Given the description of an element on the screen output the (x, y) to click on. 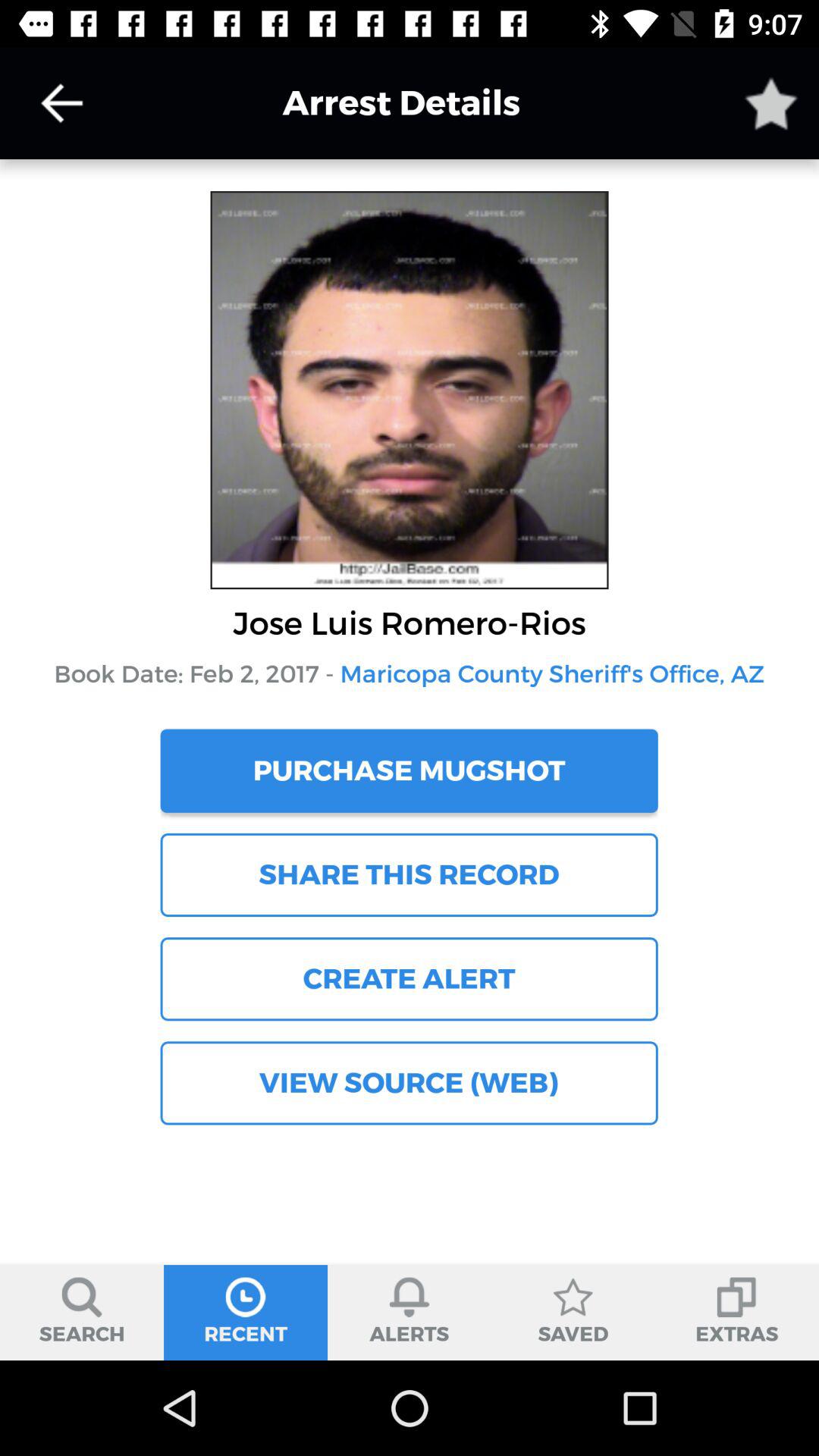
turn on the create alert icon (409, 978)
